Given the description of an element on the screen output the (x, y) to click on. 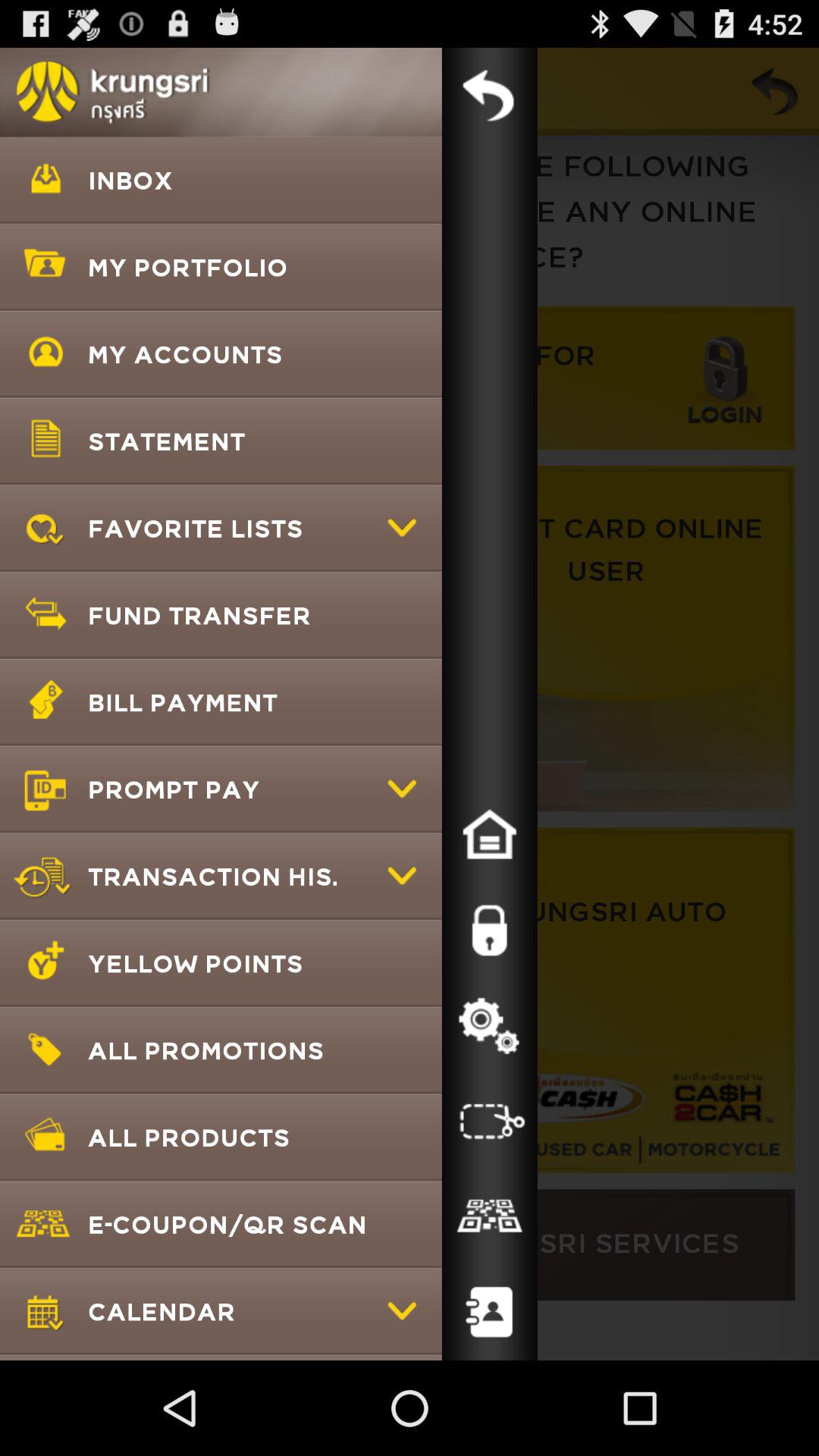
go to home page (489, 834)
